Given the description of an element on the screen output the (x, y) to click on. 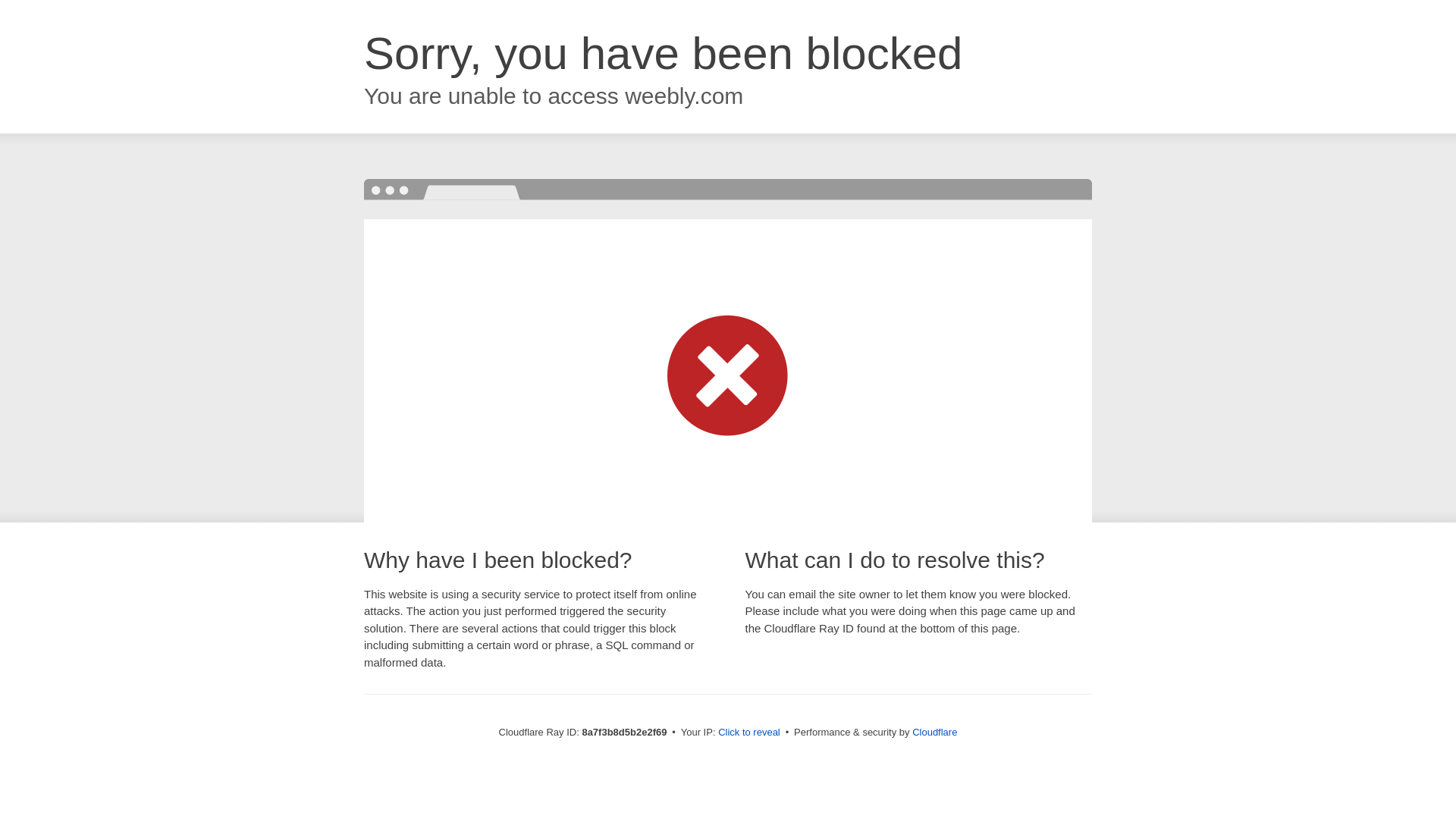
Click to reveal (748, 732)
Cloudflare (934, 731)
